Given the description of an element on the screen output the (x, y) to click on. 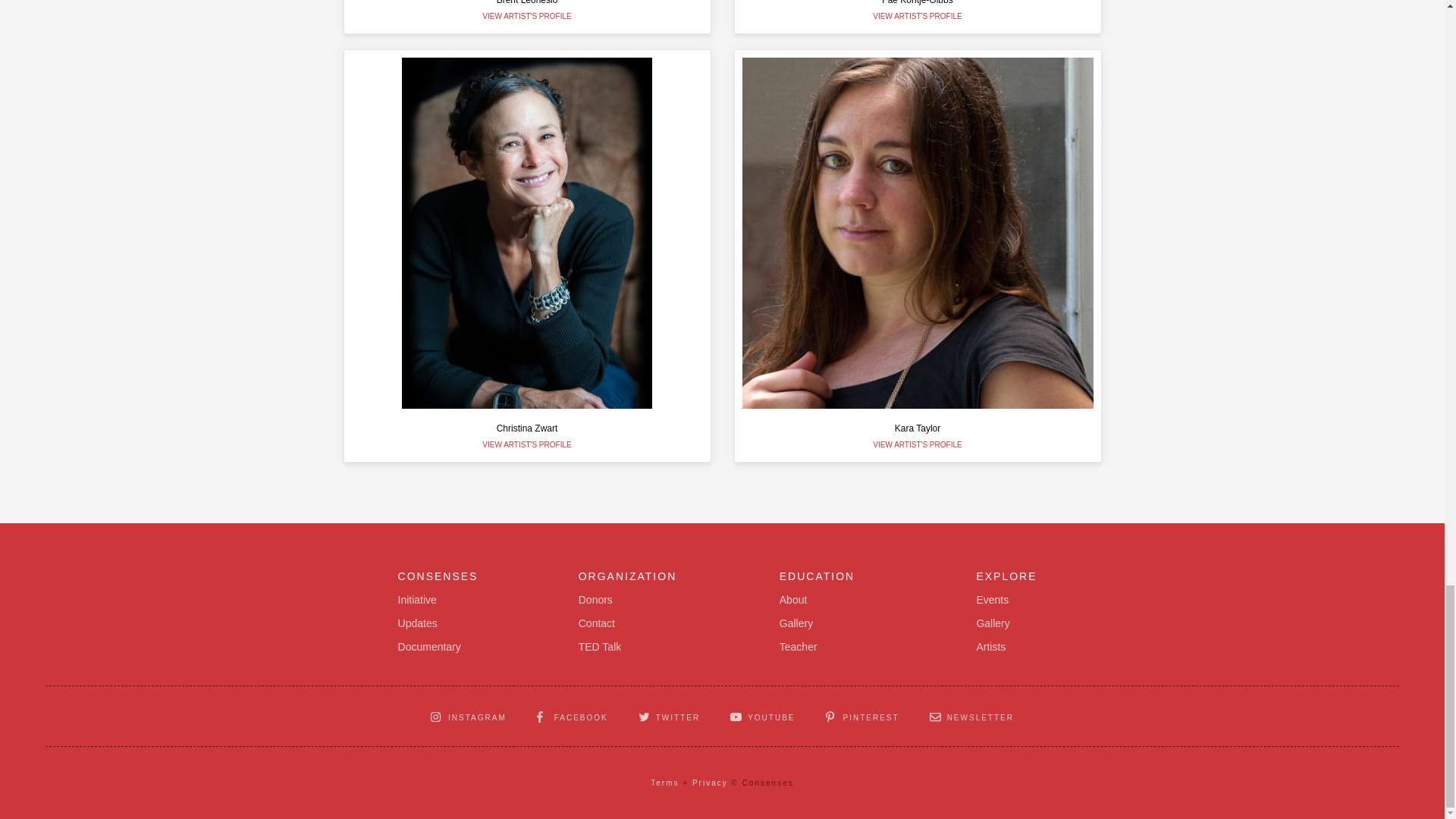
Artists (990, 647)
Documentary (429, 647)
Teacher (526, 17)
Updates (917, 17)
Gallery (797, 647)
Contact (417, 623)
TED Talk (795, 623)
Donors (992, 600)
Initiative (596, 623)
FACEBOOK (599, 647)
